Given the description of an element on the screen output the (x, y) to click on. 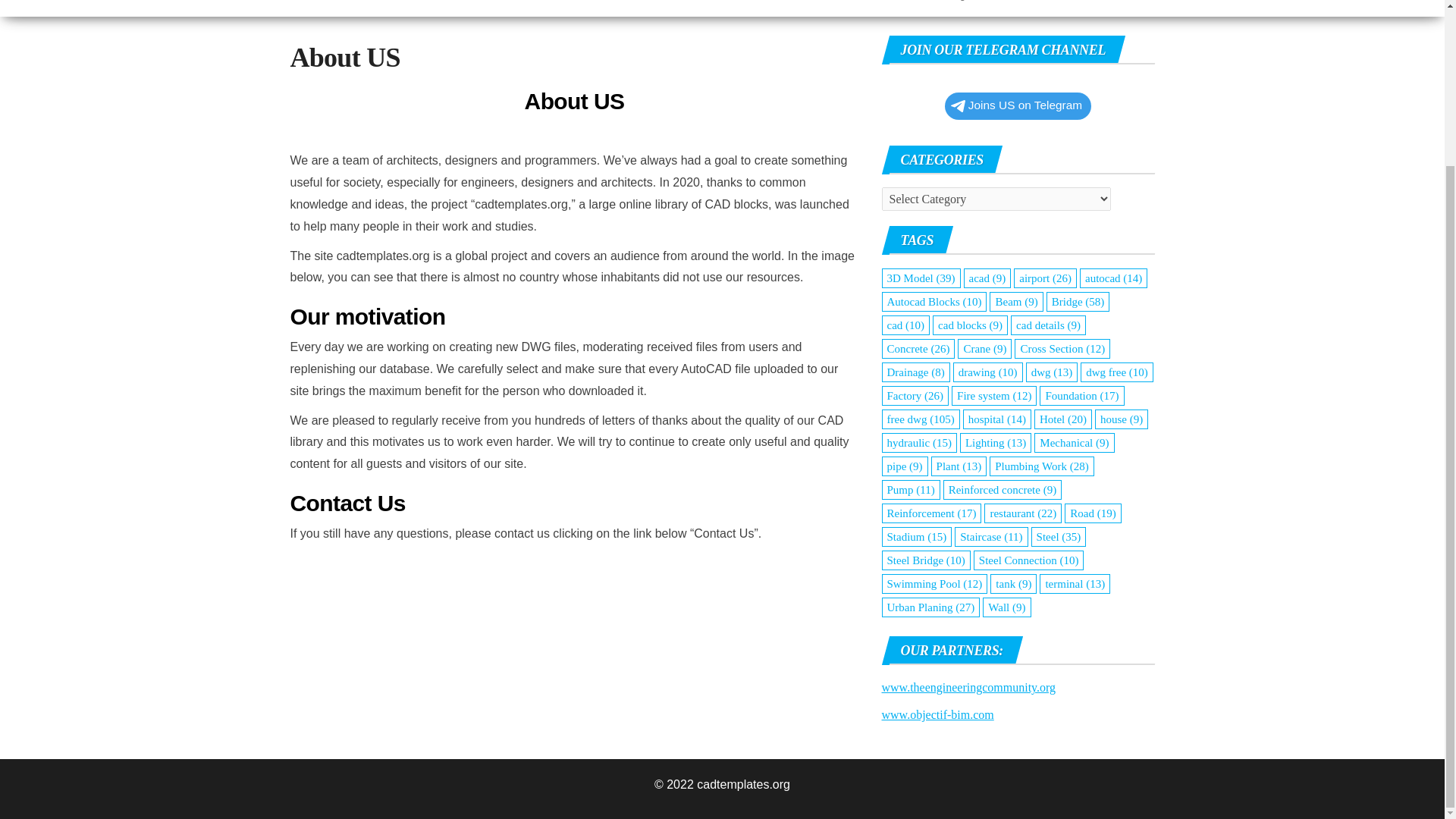
Home (339, 8)
CAD Mechanical ENG (829, 8)
CAD Templates (296, 8)
Home (339, 8)
CAD Architecture (430, 8)
CAD Architecture (430, 8)
CAD Civil ENG (553, 8)
CAD Electrical ENG (682, 8)
